Given the description of an element on the screen output the (x, y) to click on. 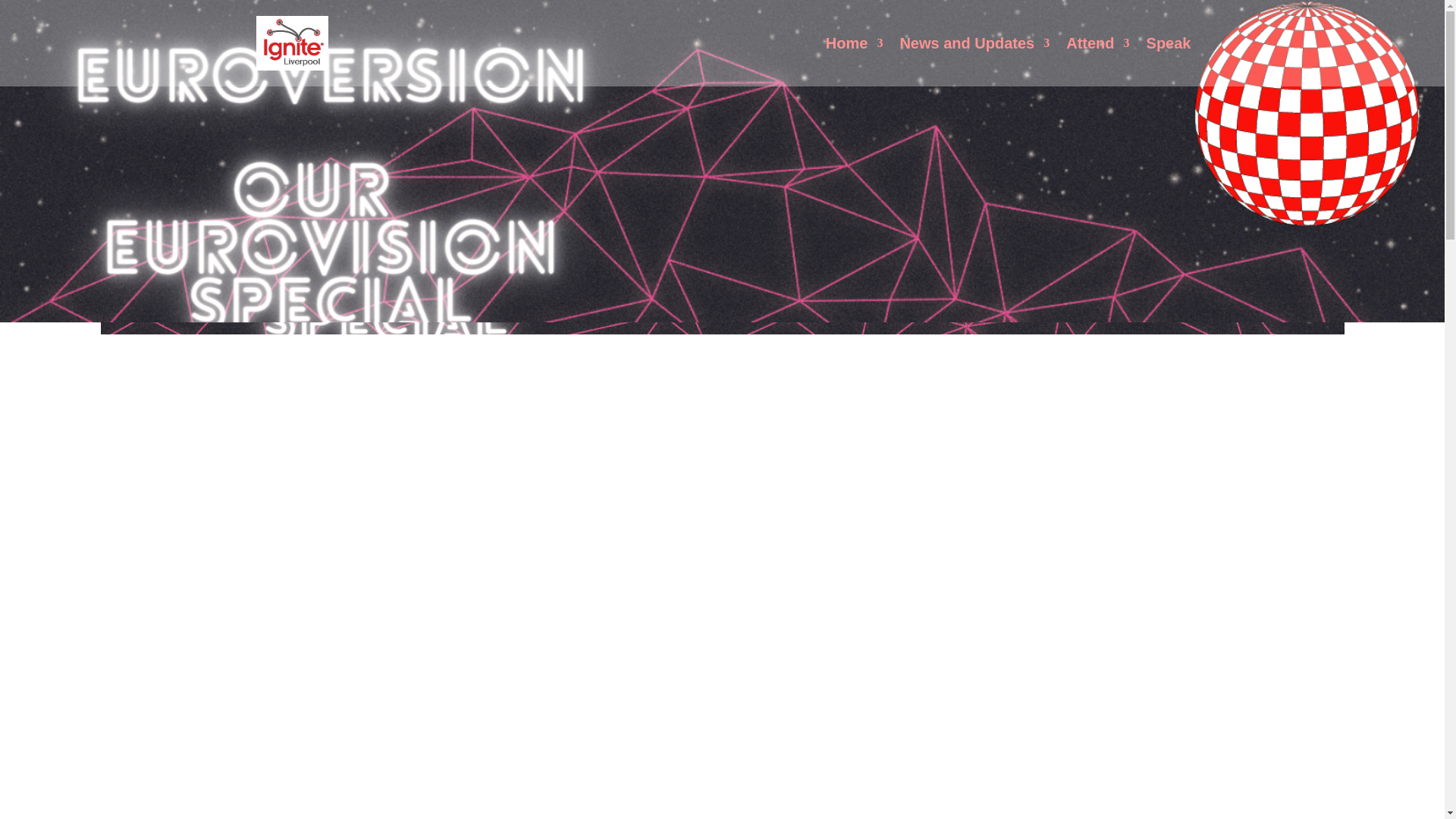
News and Updates (974, 61)
Speak (1169, 61)
Attend (1097, 61)
Home (854, 61)
